Given the description of an element on the screen output the (x, y) to click on. 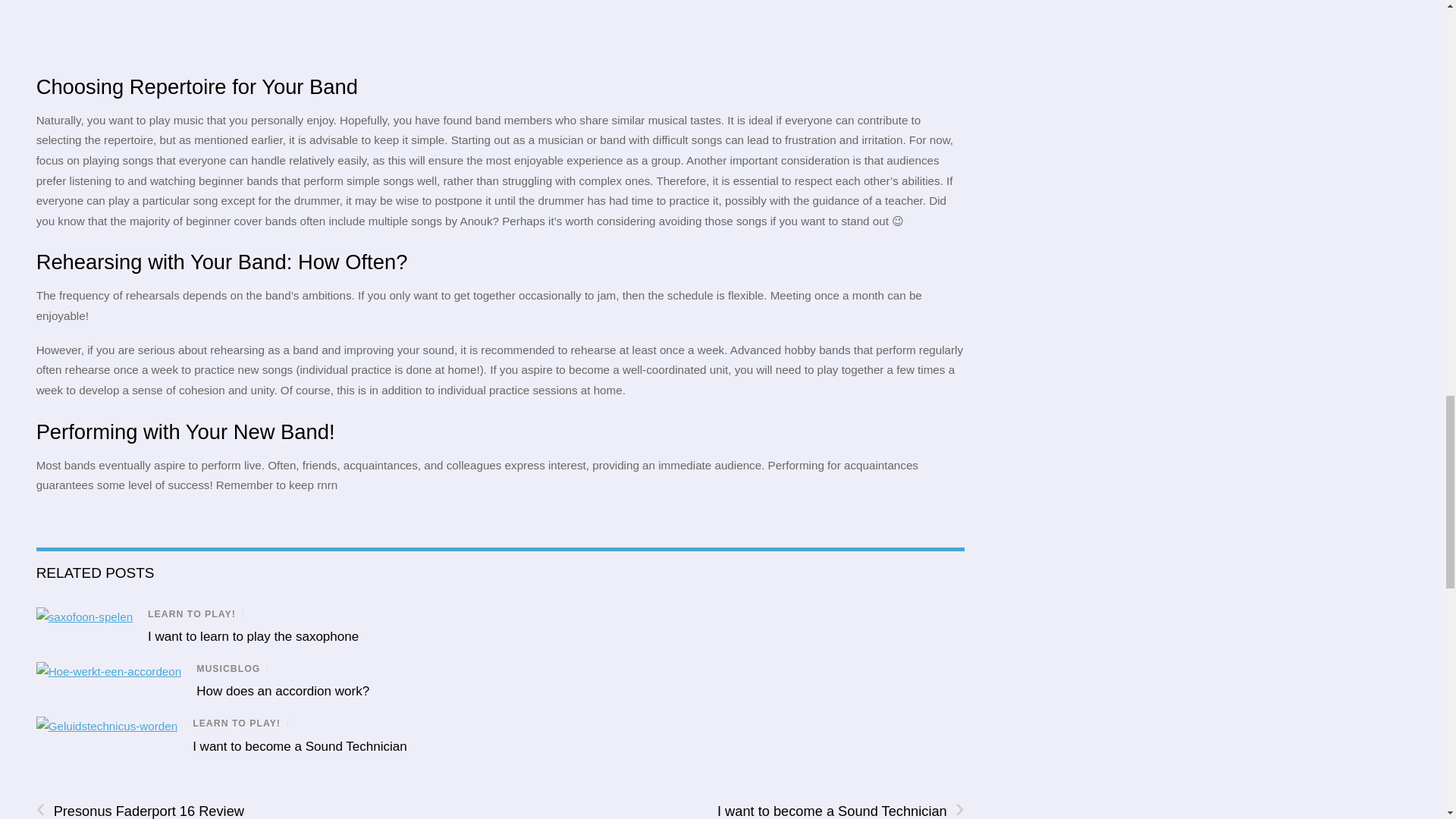
LEARN TO PLAY! (236, 723)
LEARN TO PLAY! (191, 614)
saxofoon-spelen (84, 617)
How does an accordion work? (282, 690)
How does an accordion work? (282, 690)
Geluidstechnicus-worden (106, 726)
Hoe-werkt-een-accordeon (109, 671)
I want to become a Sound Technician (299, 746)
I want to become a Sound Technician (299, 746)
I want to learn to play the saxophone (253, 636)
